Given the description of an element on the screen output the (x, y) to click on. 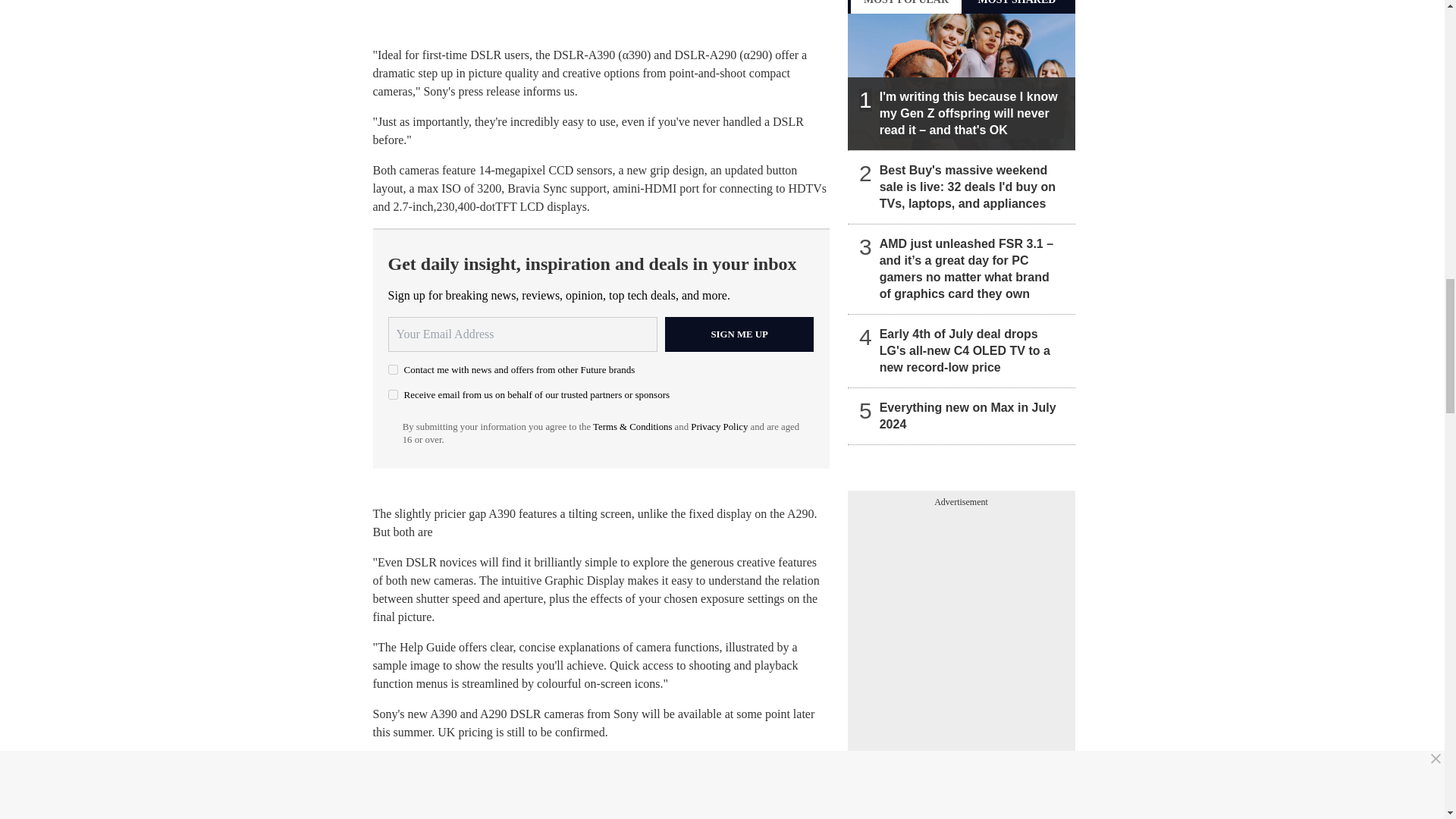
on (392, 369)
Sign me up (739, 334)
on (392, 394)
